Given the description of an element on the screen output the (x, y) to click on. 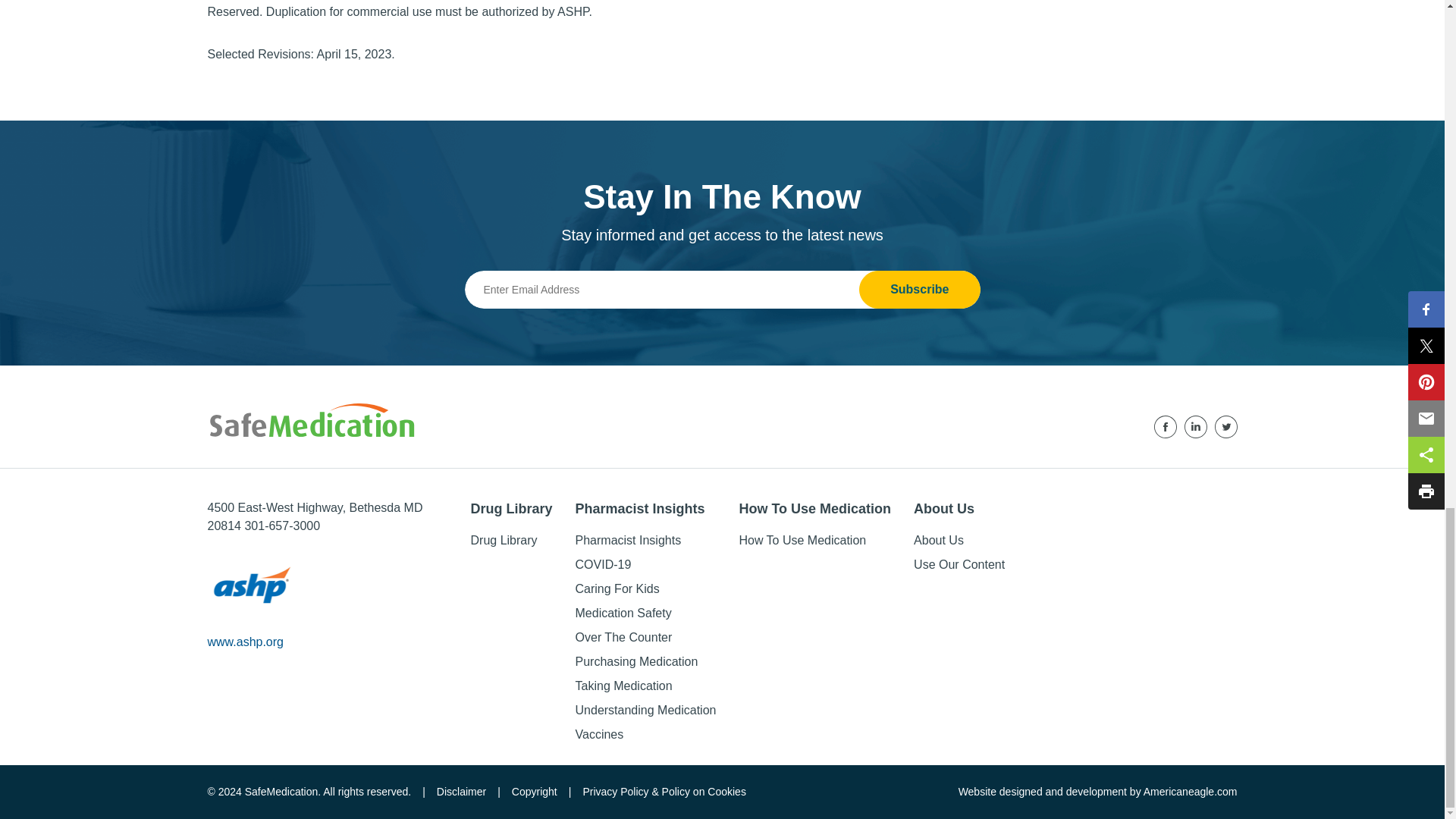
Subscribe (919, 289)
